Given the description of an element on the screen output the (x, y) to click on. 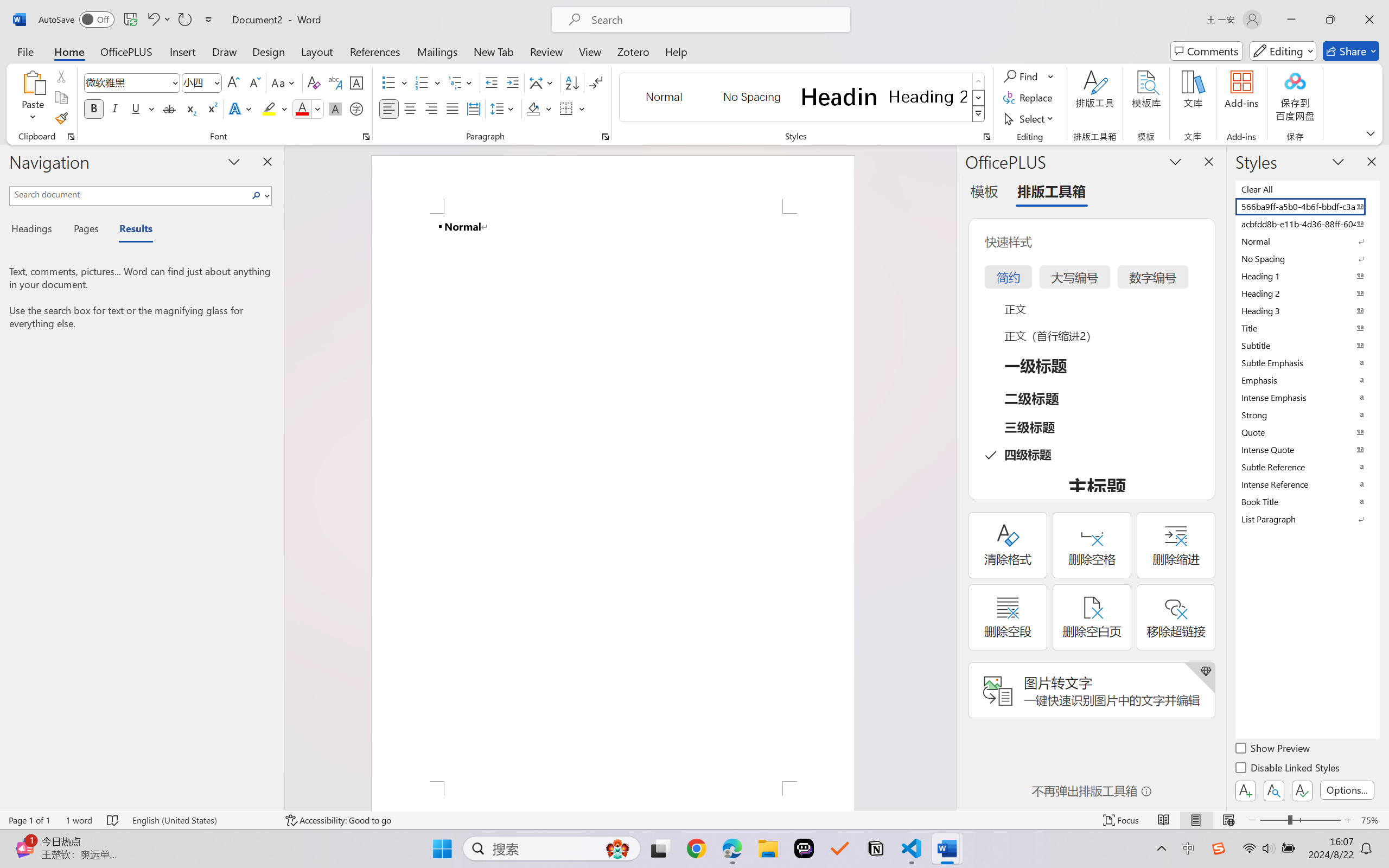
Word Count 1 word (78, 819)
Paste (33, 81)
Close (1369, 19)
List Paragraph (1306, 518)
Search (256, 195)
Class: NetUIButton (1301, 790)
Zoom Out (1273, 819)
Row up (978, 81)
Font (126, 82)
OfficePLUS (126, 51)
New Tab (493, 51)
